Given the description of an element on the screen output the (x, y) to click on. 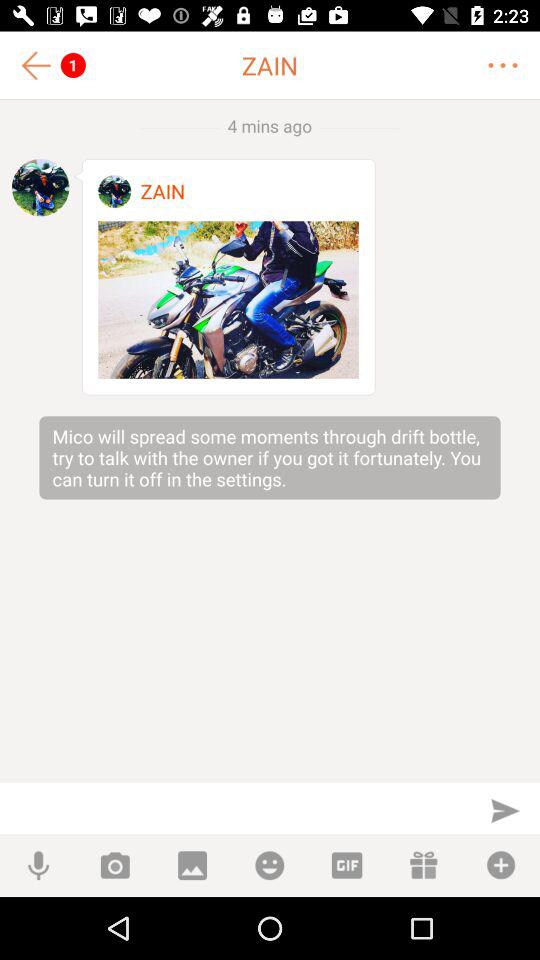
open gif gallery (346, 865)
